Given the description of an element on the screen output the (x, y) to click on. 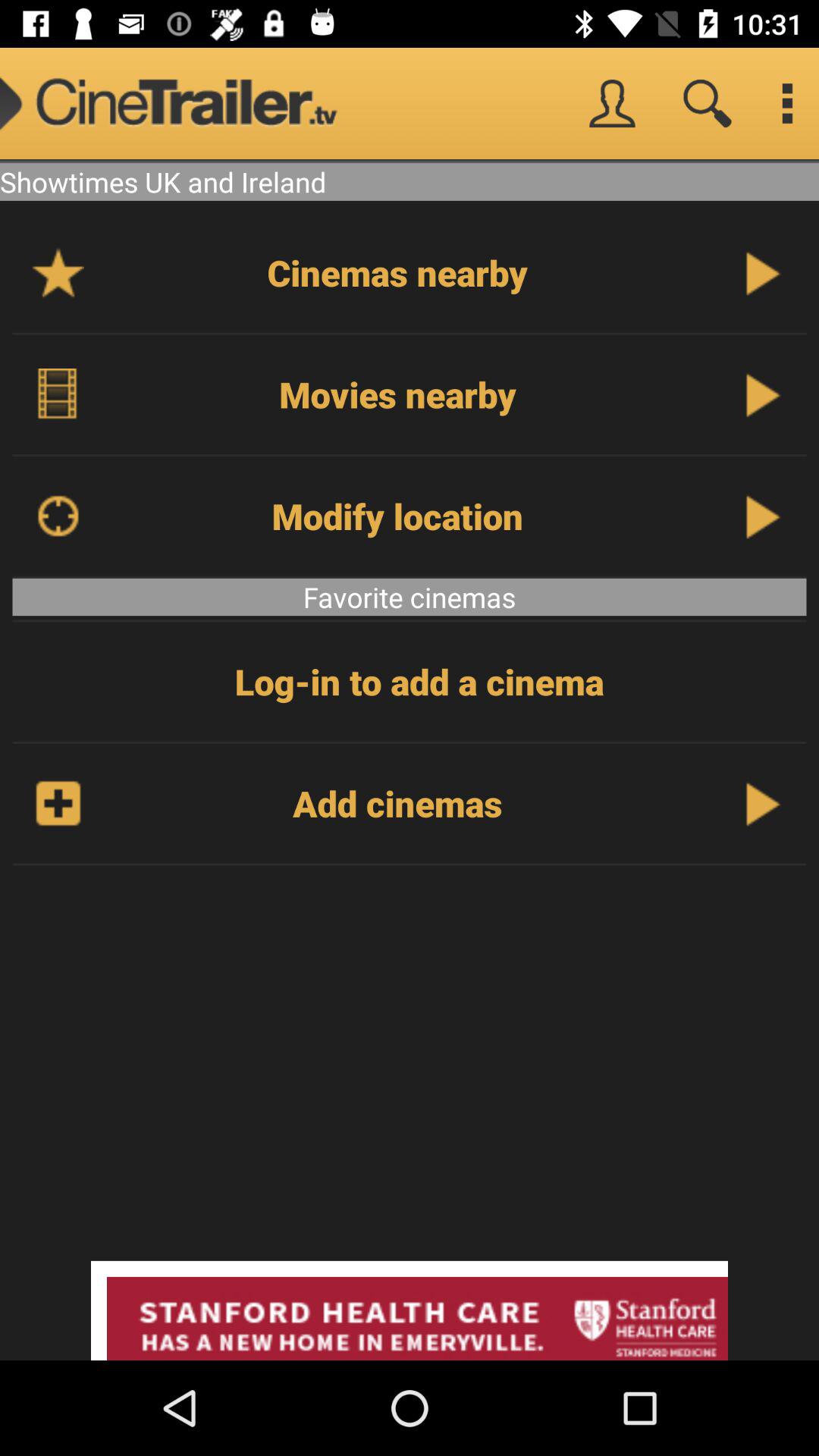
toggle the advertisement option (409, 1310)
